Given the description of an element on the screen output the (x, y) to click on. 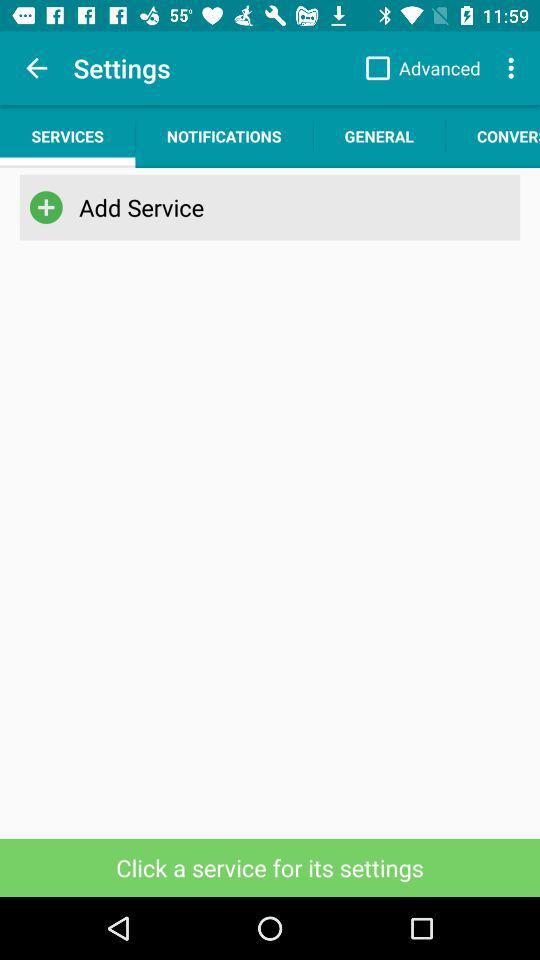
open the item above general item (418, 68)
